Given the description of an element on the screen output the (x, y) to click on. 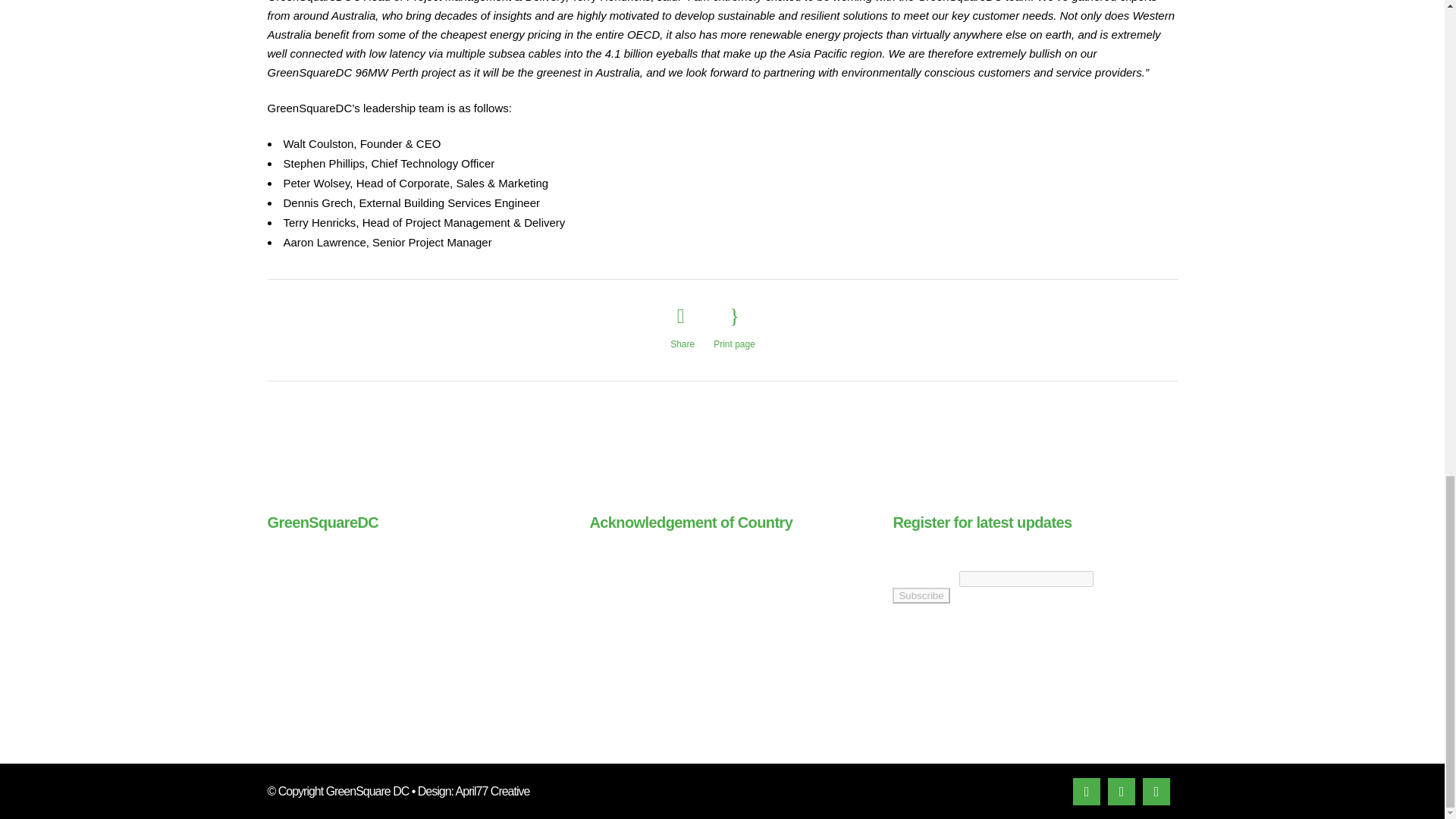
Subscribe (920, 595)
Print page (734, 327)
Subscribe (920, 595)
